Given the description of an element on the screen output the (x, y) to click on. 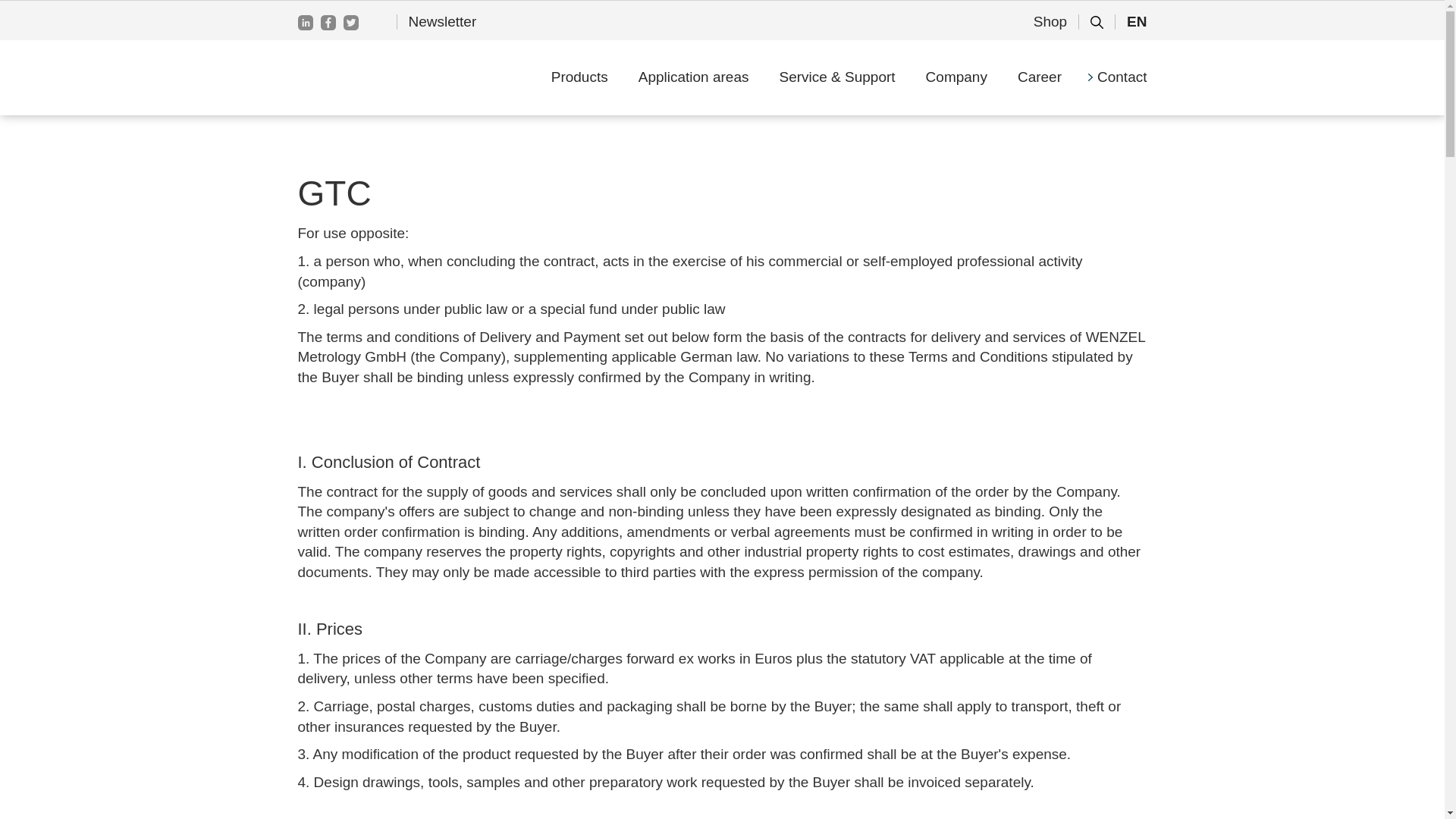
Products (580, 77)
Newsletter (442, 21)
Search (1061, 9)
Search (1061, 9)
Search (1061, 9)
Shop (1050, 21)
